Given the description of an element on the screen output the (x, y) to click on. 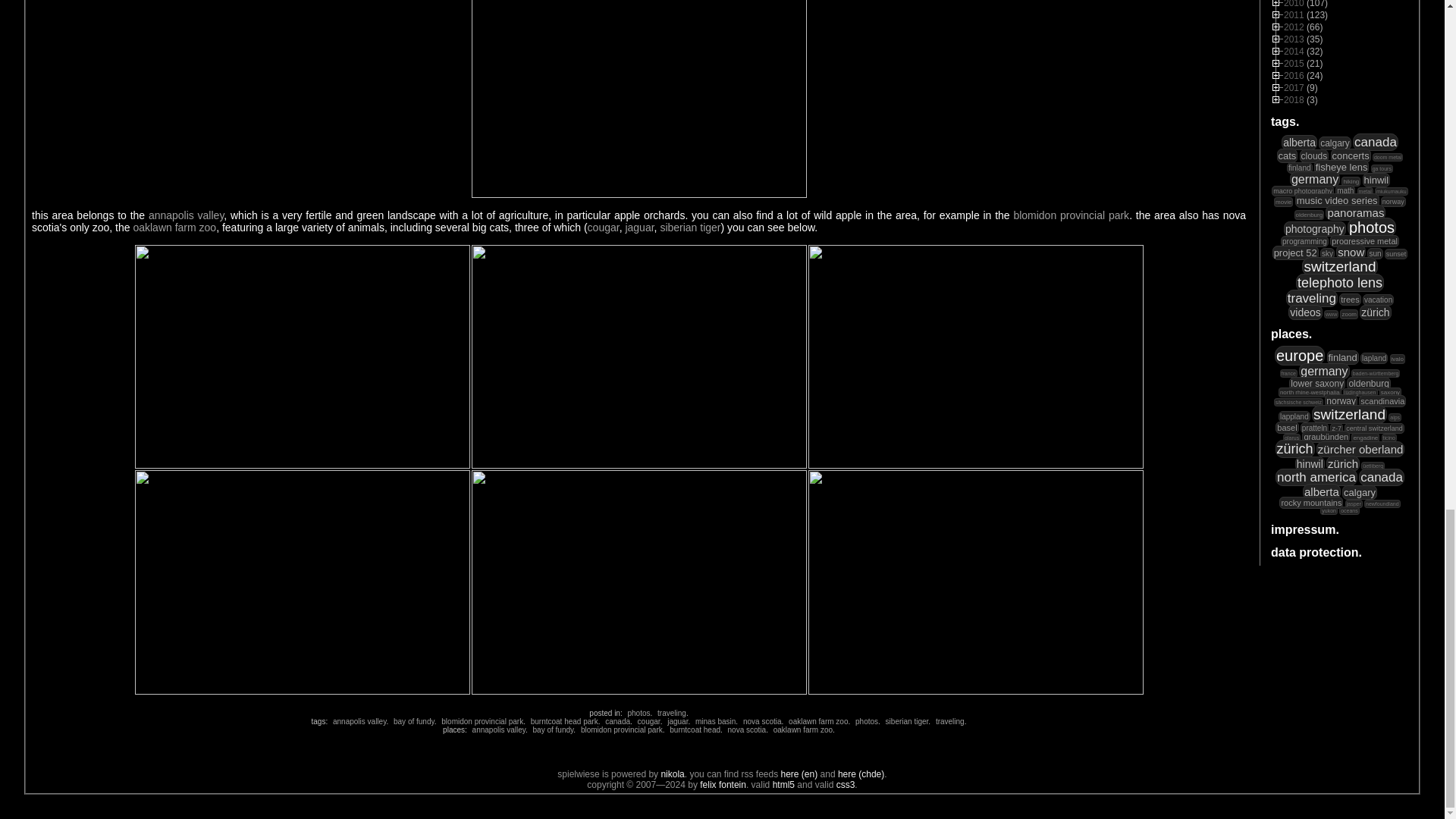
blomidon provincial park (1071, 215)
oaklawn farm zoo (173, 227)
traveling (669, 713)
jaguar (638, 227)
siberian tiger (689, 227)
blomidon provincial park (480, 721)
canada (616, 721)
cougar (604, 227)
bay of fundy (411, 721)
annapolis valley (357, 721)
